Given the description of an element on the screen output the (x, y) to click on. 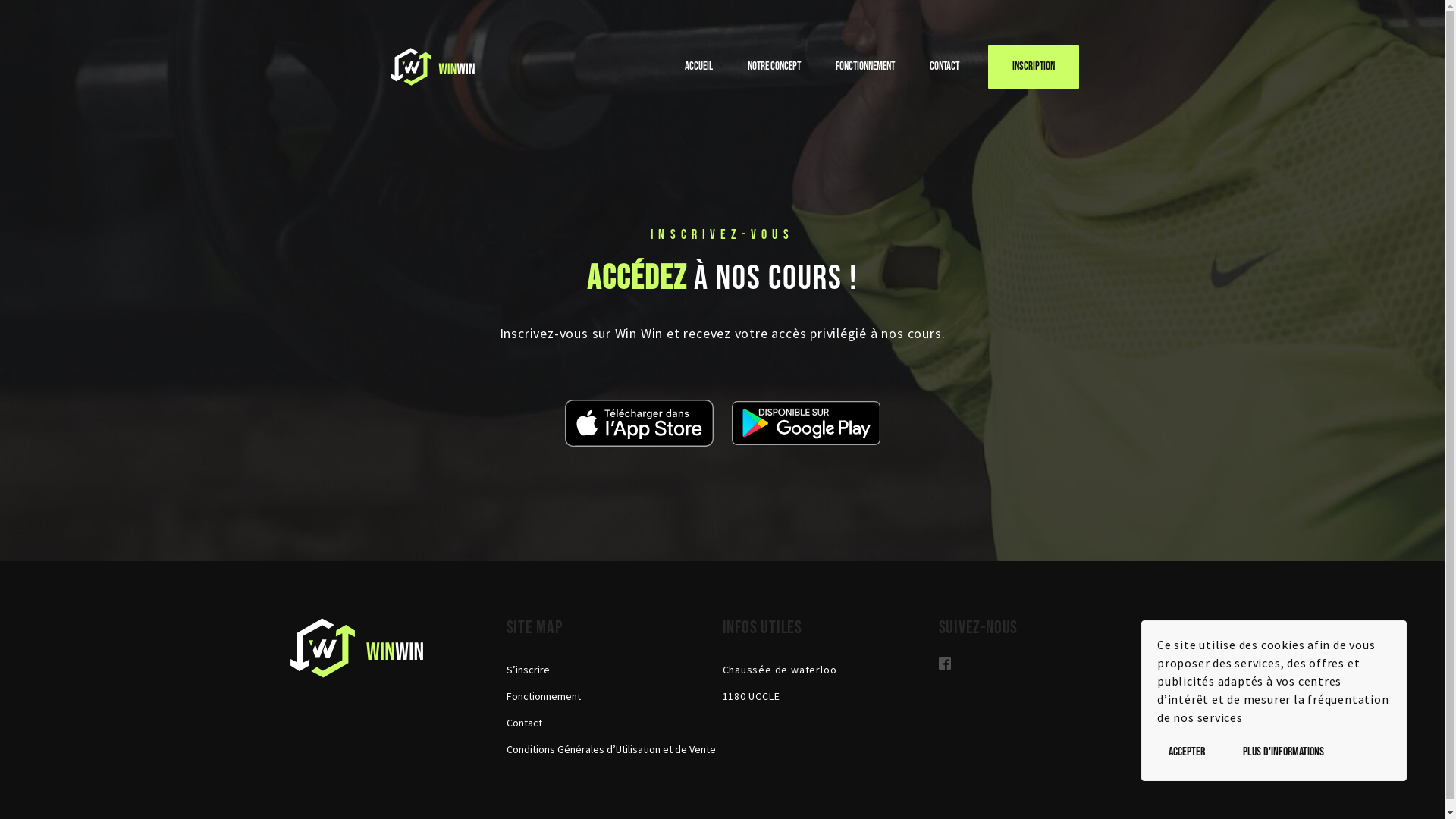
Inscription Element type: text (1032, 66)
Skip to content Element type: text (1443, 0)
Accueil Element type: text (697, 66)
Fonctionnement Element type: text (864, 66)
Plus d'informations Element type: text (1283, 751)
Contact Element type: text (524, 722)
Contact Element type: text (944, 66)
Fonctionnement Element type: text (543, 695)
Notre concept Element type: text (773, 66)
Accepter Element type: text (1186, 751)
